Given the description of an element on the screen output the (x, y) to click on. 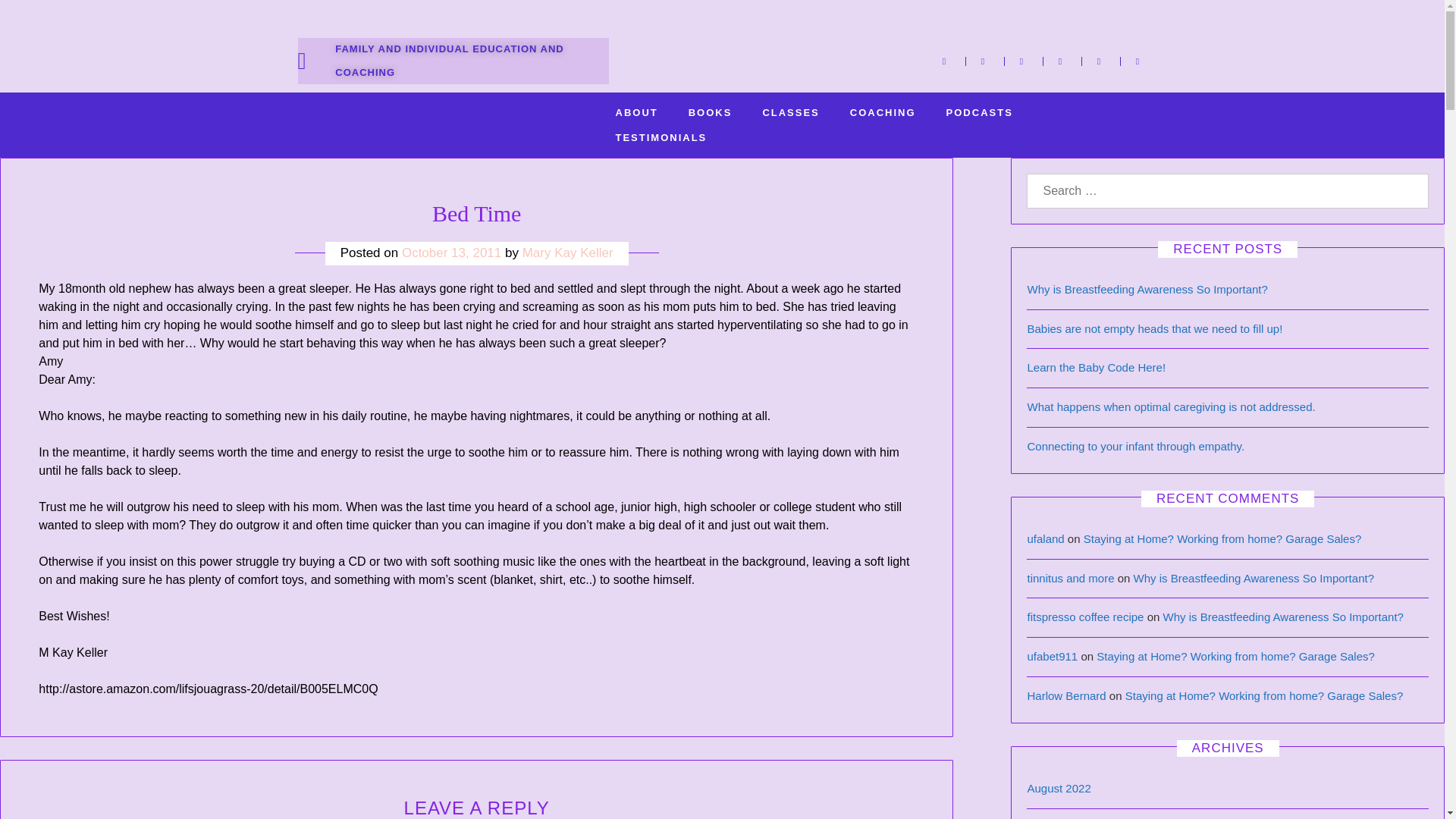
CLASSES (790, 112)
Babies are not empty heads that we need to fill up! (1154, 328)
Why is Breastfeeding Awareness So Important? (1254, 577)
TESTIMONIALS (660, 137)
COACHING (882, 112)
PODCASTS (979, 112)
BOOKS (710, 112)
Why is Breastfeeding Awareness So Important? (1283, 616)
What happens when optimal caregiving is not addressed. (1170, 406)
fitspresso coffee recipe (1084, 616)
Mary Kay Keller (567, 252)
ABOUT (635, 112)
tinnitus and more (1069, 577)
ufaland (1045, 538)
Learn the Baby Code Here! (1096, 367)
